Given the description of an element on the screen output the (x, y) to click on. 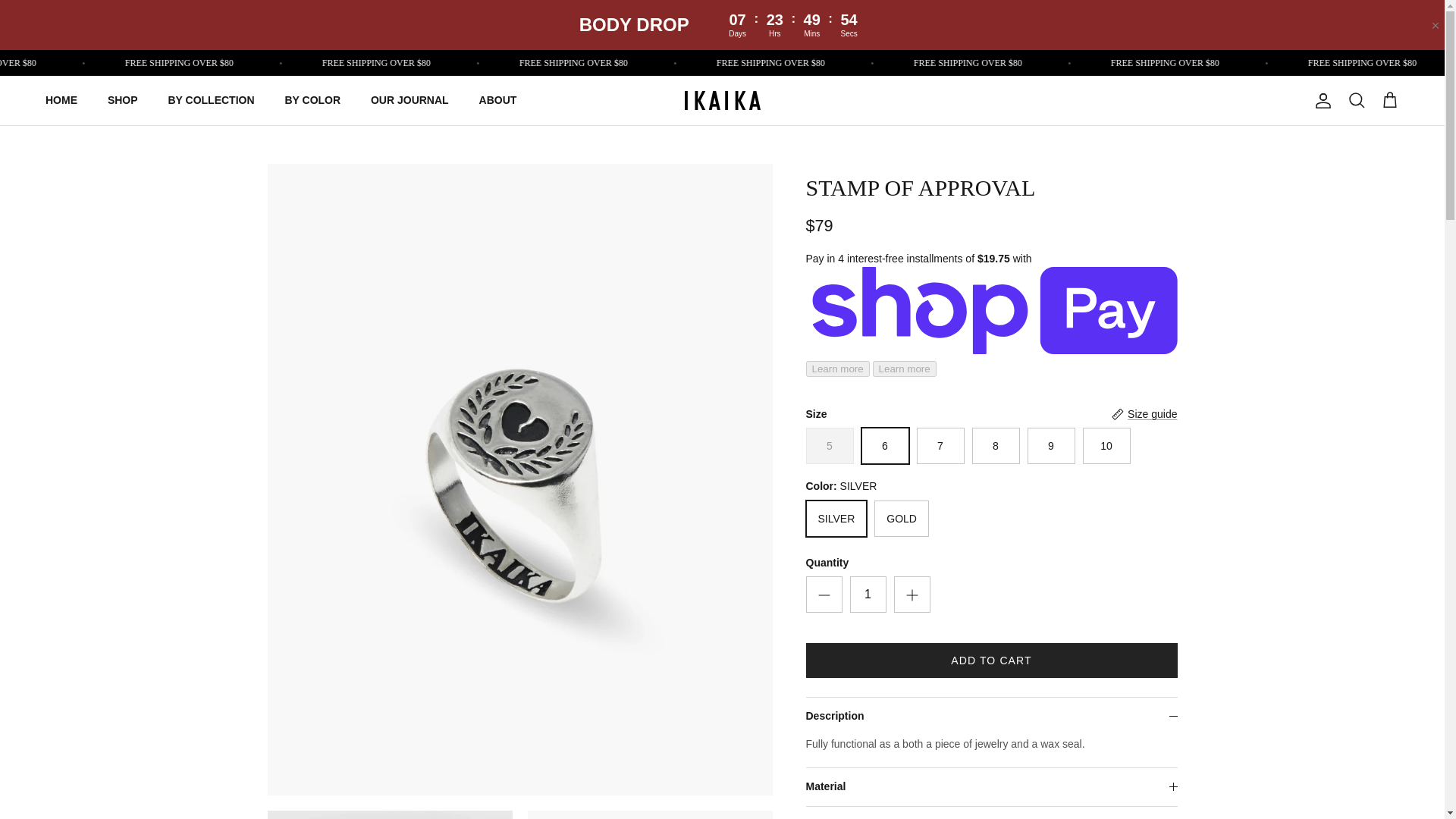
IKAIKA (722, 99)
1 (866, 594)
OUR JOURNAL (409, 100)
SHOP (122, 100)
BY COLLECTION (210, 100)
BY COLOR (311, 100)
Cart (1389, 100)
ABOUT (498, 100)
Sold out (829, 445)
Account (1319, 100)
